Given the description of an element on the screen output the (x, y) to click on. 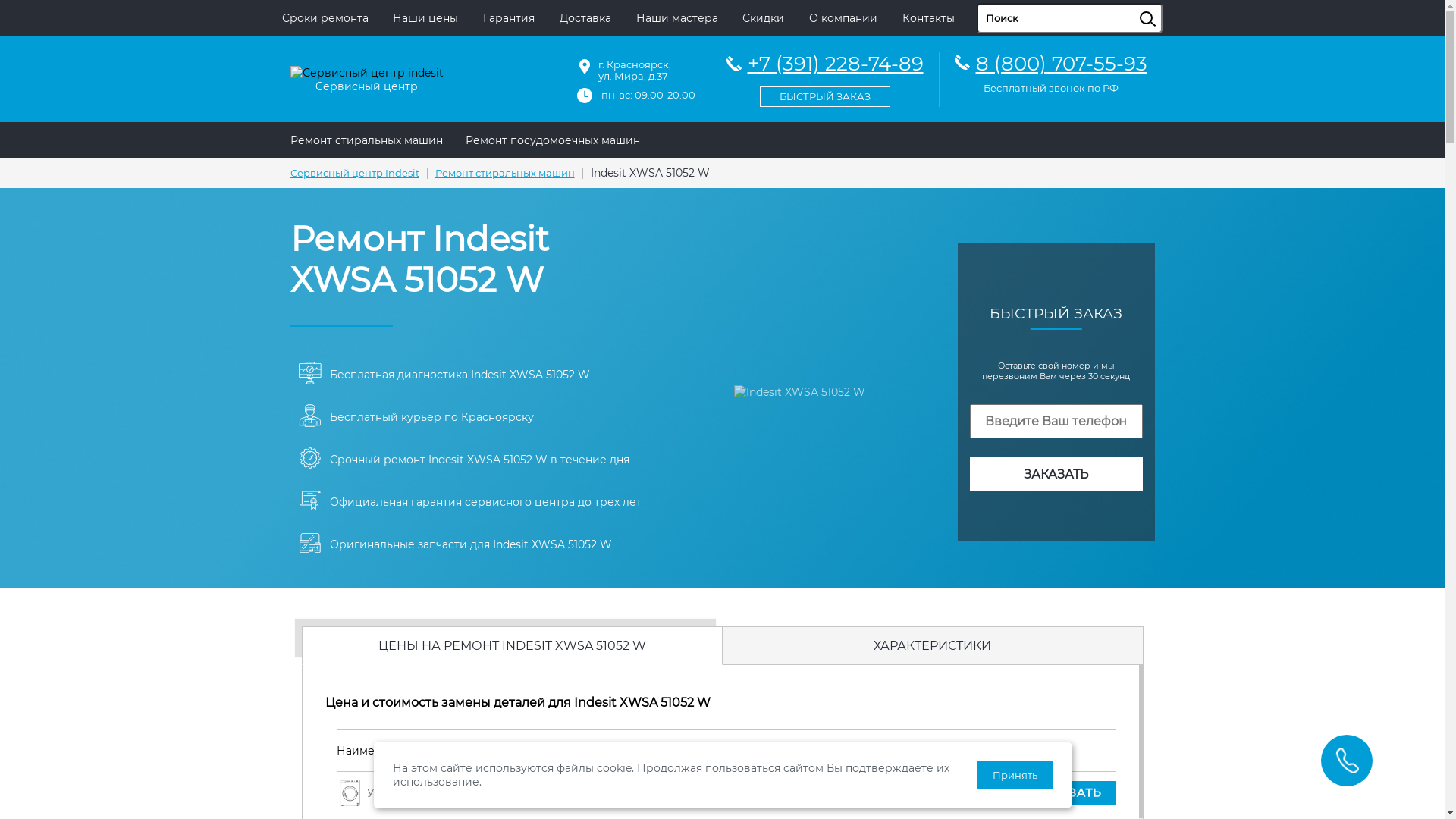
sisea.search Element type: text (1165, 3)
+7 (391) 228-74-89 Element type: text (824, 77)
8 (800) 707-55-93 Element type: text (1060, 63)
